Given the description of an element on the screen output the (x, y) to click on. 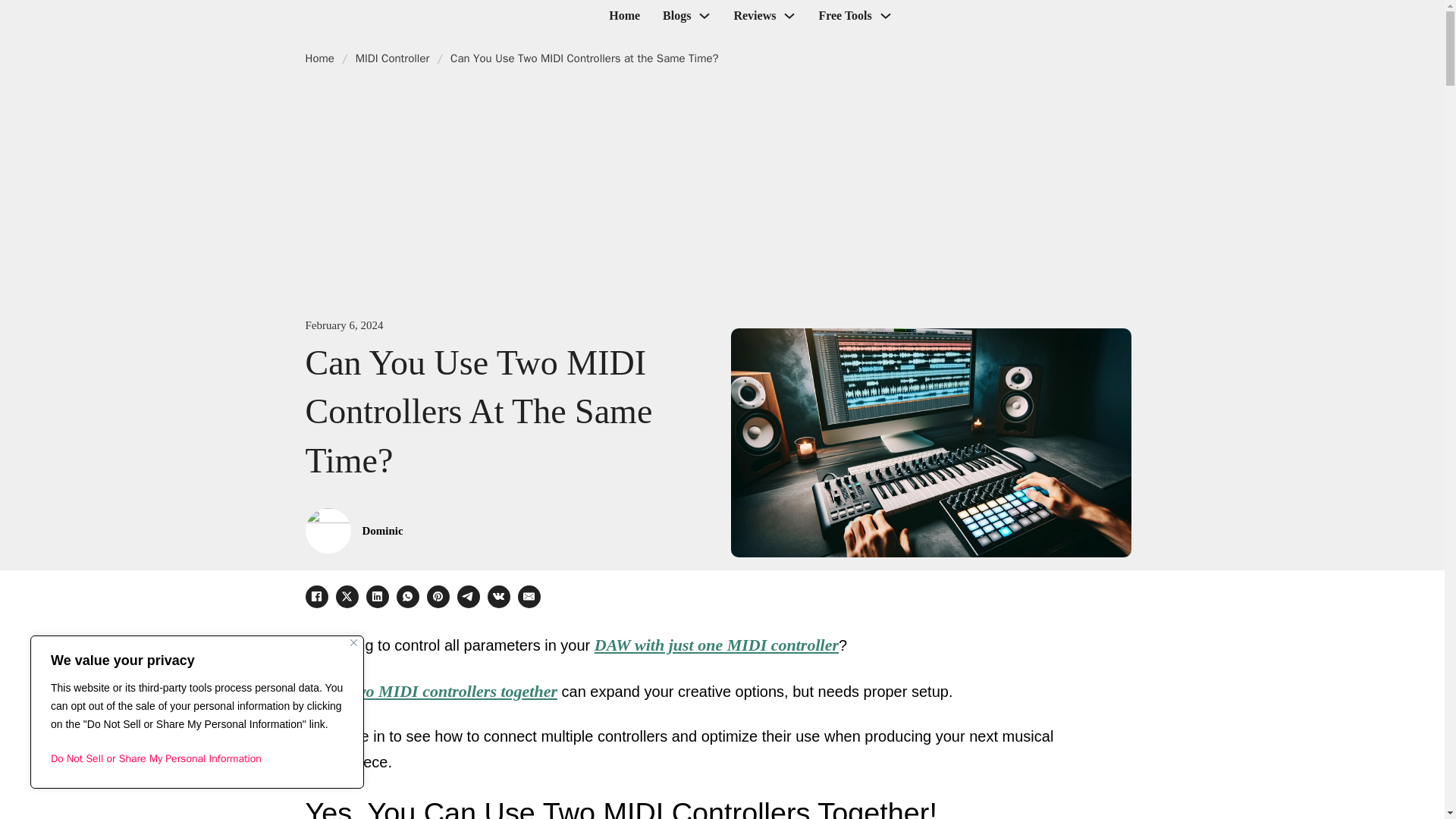
Blogs (676, 14)
Reviews (754, 14)
Free Tools (844, 14)
Home (624, 14)
Do Not Sell or Share My Personal Information (196, 759)
